Given the description of an element on the screen output the (x, y) to click on. 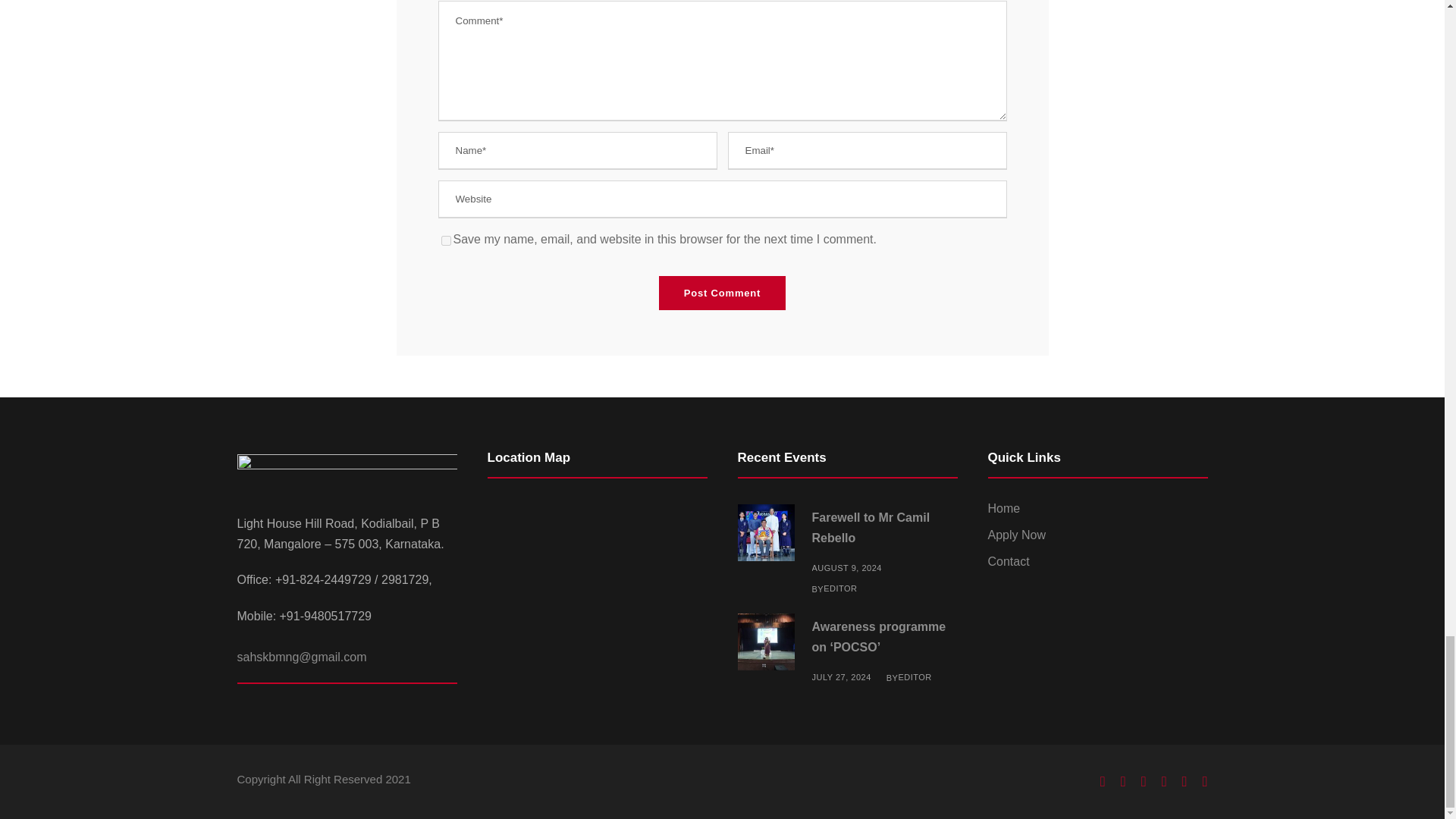
yes (446, 240)
WhatsApp Image 2024-07-18 at 3.04.05 PM (764, 641)
Post Comment (722, 293)
Posts by editor (914, 676)
Posts by editor (840, 587)
